Given the description of an element on the screen output the (x, y) to click on. 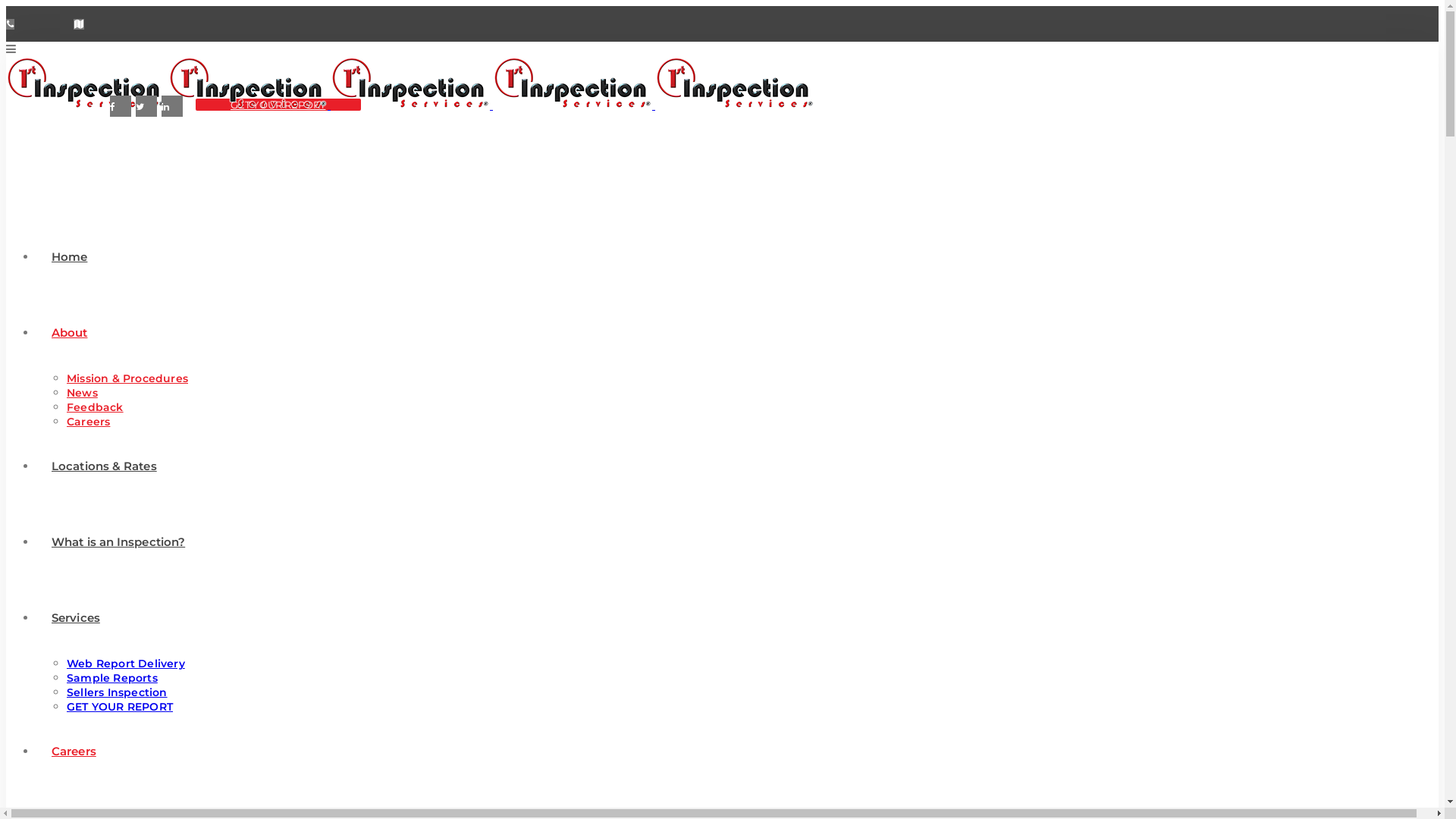
Mission & Procedures Element type: text (127, 378)
Careers Element type: text (73, 750)
Services Element type: text (75, 617)
News Element type: text (81, 392)
Locations & Rates Element type: text (104, 465)
What is an Inspection? Element type: text (118, 541)
Sample Reports Element type: text (111, 677)
Home Element type: text (69, 256)
GET YOUR REPORT Element type: text (277, 104)
Sellers Inspection Element type: text (116, 692)
Careers Element type: text (87, 421)
Web Report Delivery Element type: text (125, 663)
Feedback Element type: text (94, 407)
About Element type: text (69, 332)
GET YOUR REPORT Element type: text (119, 706)
